Given the description of an element on the screen output the (x, y) to click on. 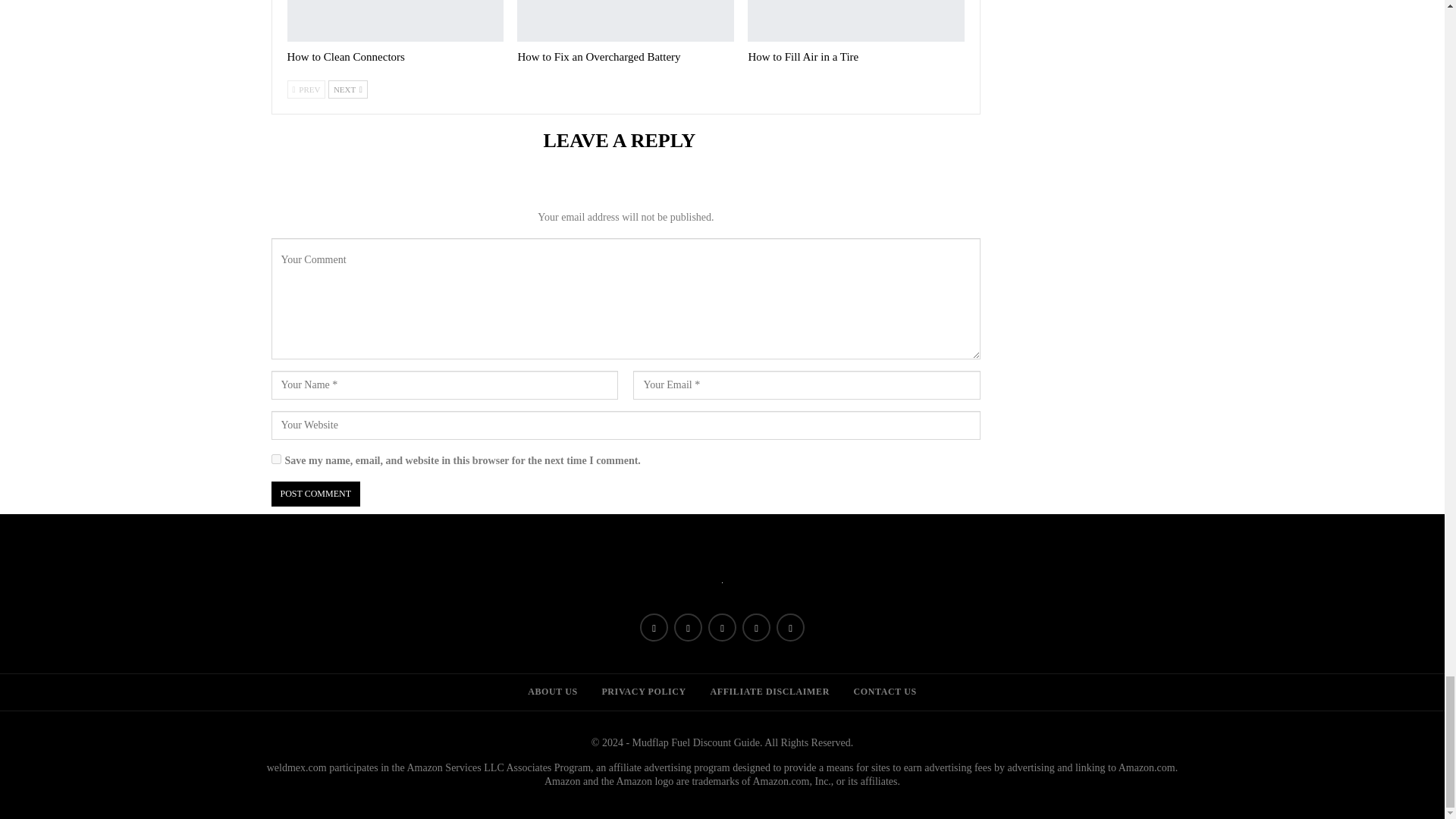
How to Clean Connectors (345, 56)
How to Fix an Overcharged Battery (597, 56)
How to Fill Air in a Tire (855, 20)
How to Clean Connectors (394, 20)
How to Fill Air in a Tire (803, 56)
How to Fix an Overcharged Battery (624, 20)
yes (275, 459)
Post Comment (314, 493)
